Given the description of an element on the screen output the (x, y) to click on. 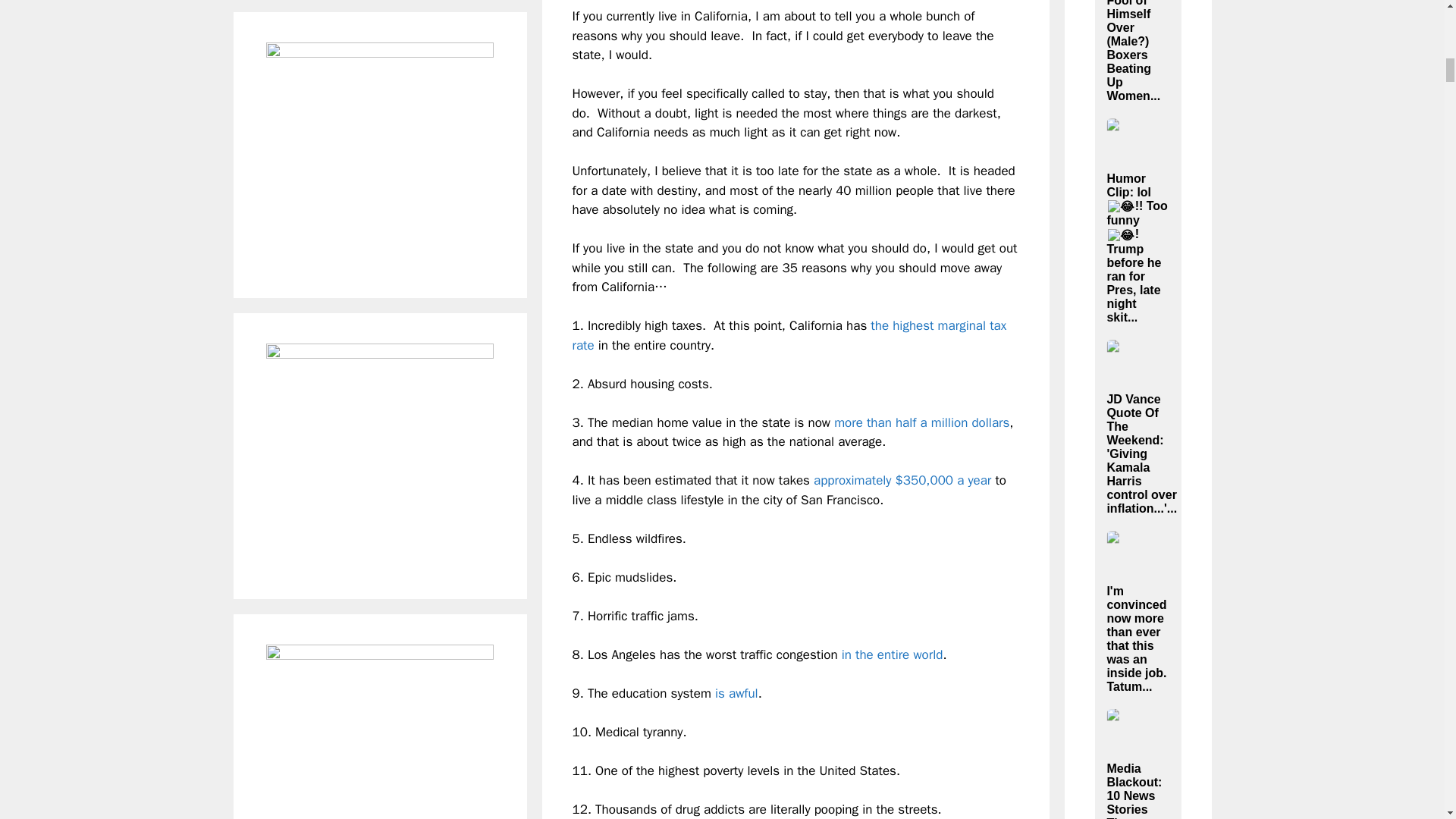
in the entire world (892, 654)
the highest marginal tax rate (789, 334)
more than half a million dollars (921, 422)
more than half a million dollars (921, 422)
the highest marginal tax rate (789, 334)
is awful (736, 693)
in the entire world (892, 654)
is awful (736, 693)
